Given the description of an element on the screen output the (x, y) to click on. 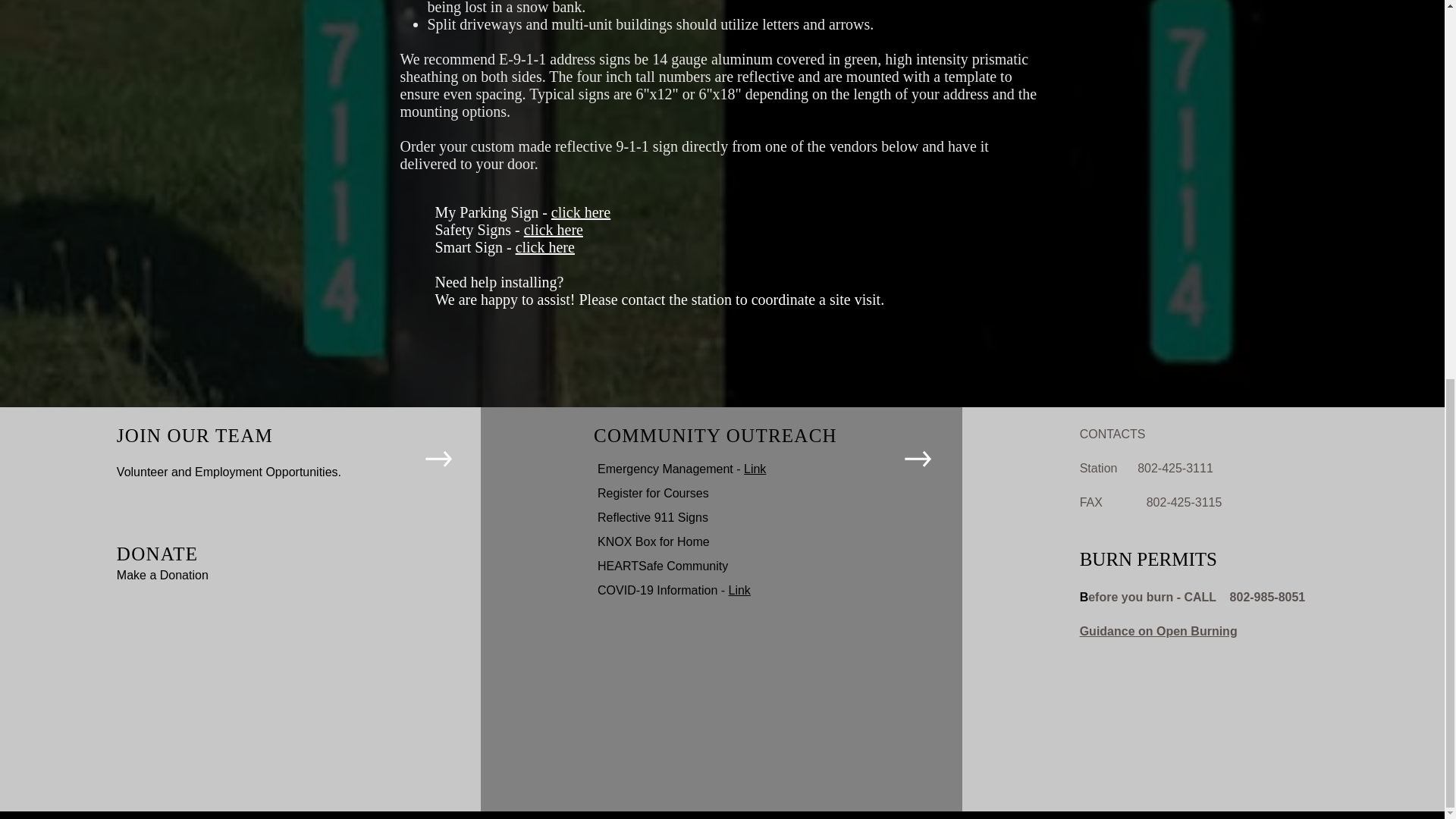
click here (545, 247)
BURN PERMITS (1148, 558)
Link (754, 468)
Register for Courses (652, 492)
CONTACTS (1112, 433)
Link (740, 590)
click here (580, 211)
Reflective 911 Signs (651, 517)
click here (553, 229)
Guidance on Open Burning (1158, 631)
